Given the description of an element on the screen output the (x, y) to click on. 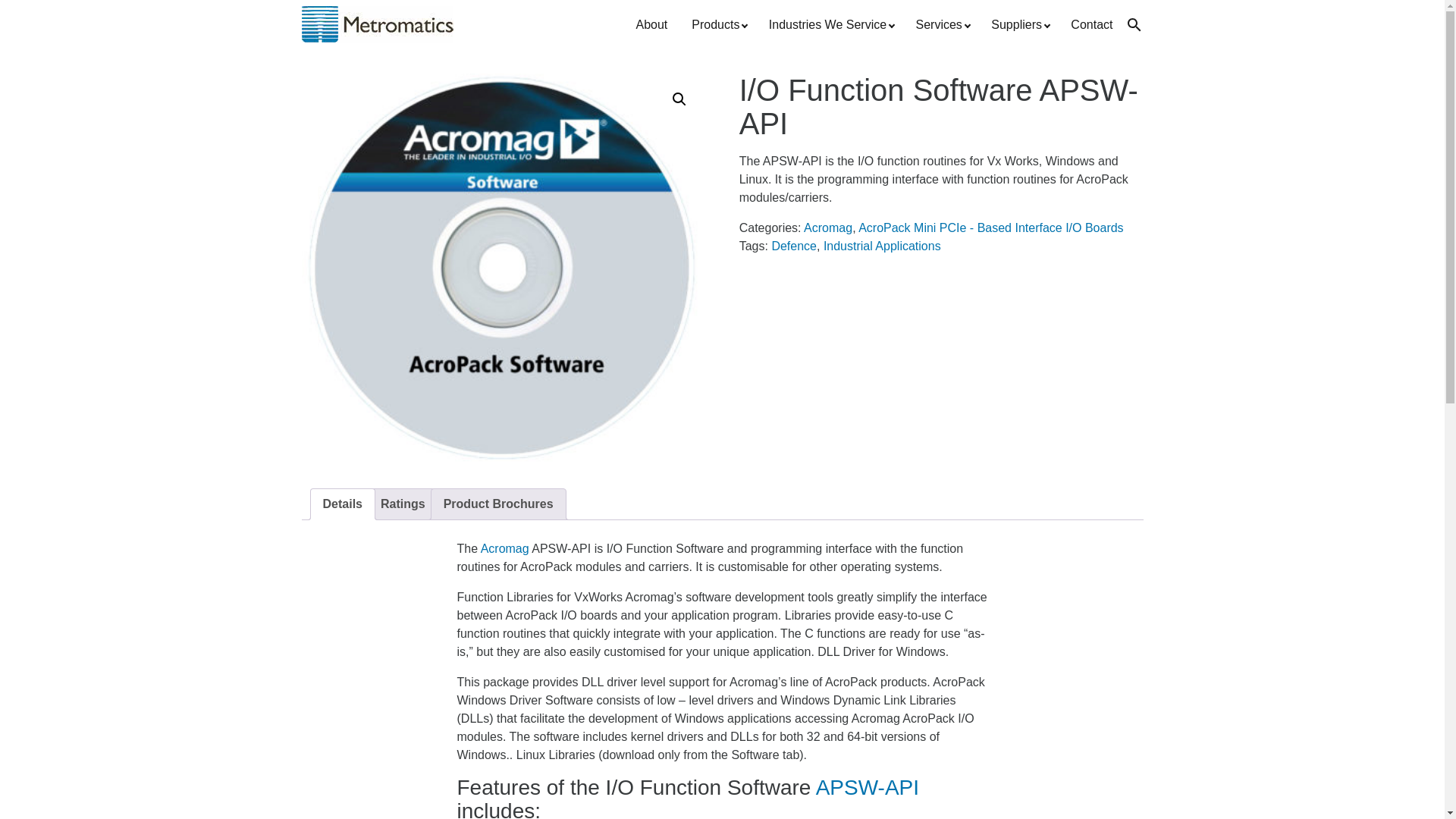
Suppliers (1018, 24)
About (651, 24)
Products (718, 24)
Industries We Service (830, 24)
Services (941, 24)
